Given the description of an element on the screen output the (x, y) to click on. 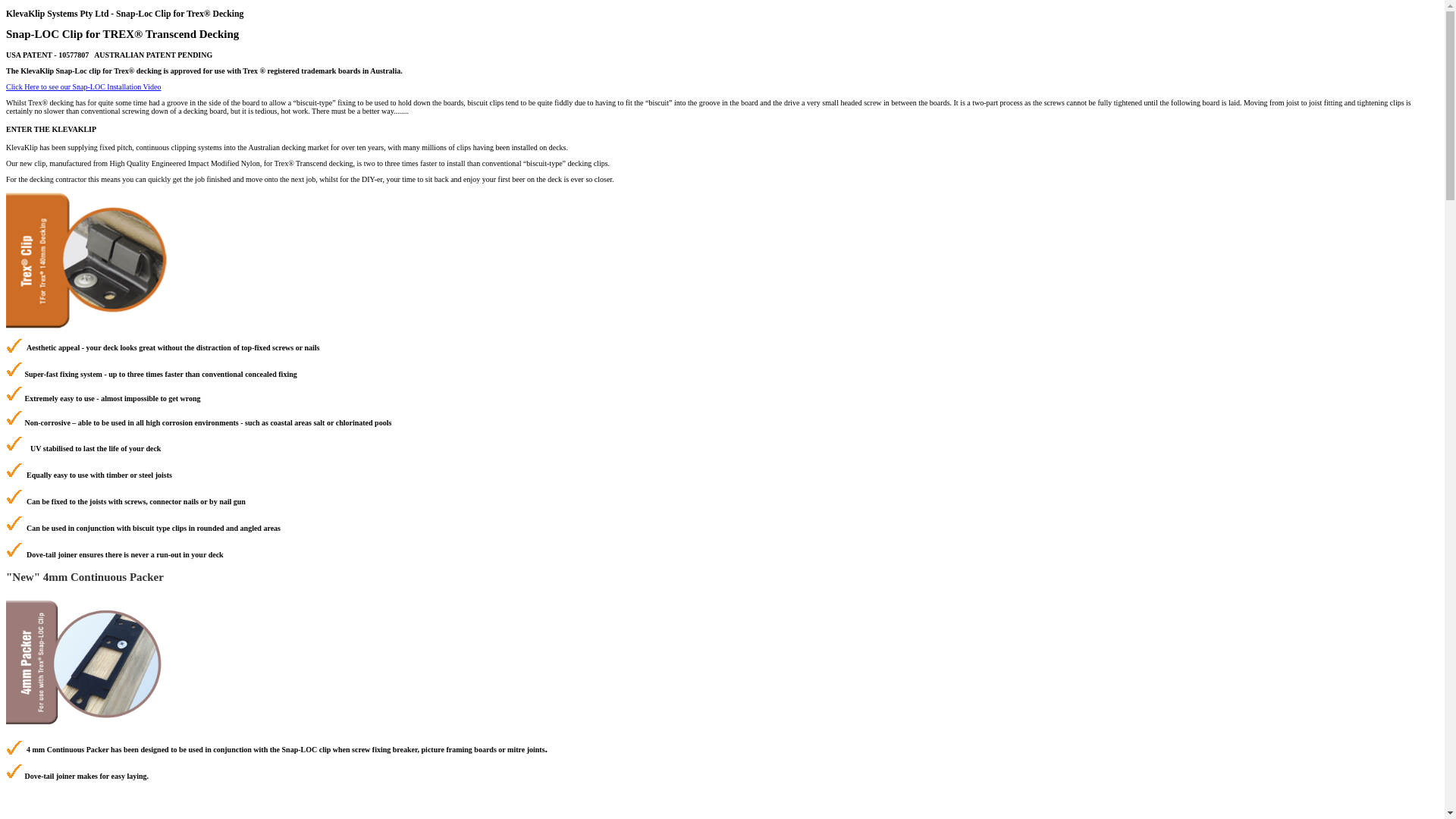
Click Here to see our Snap-LOC Installation Video Element type: text (83, 86)
